Given the description of an element on the screen output the (x, y) to click on. 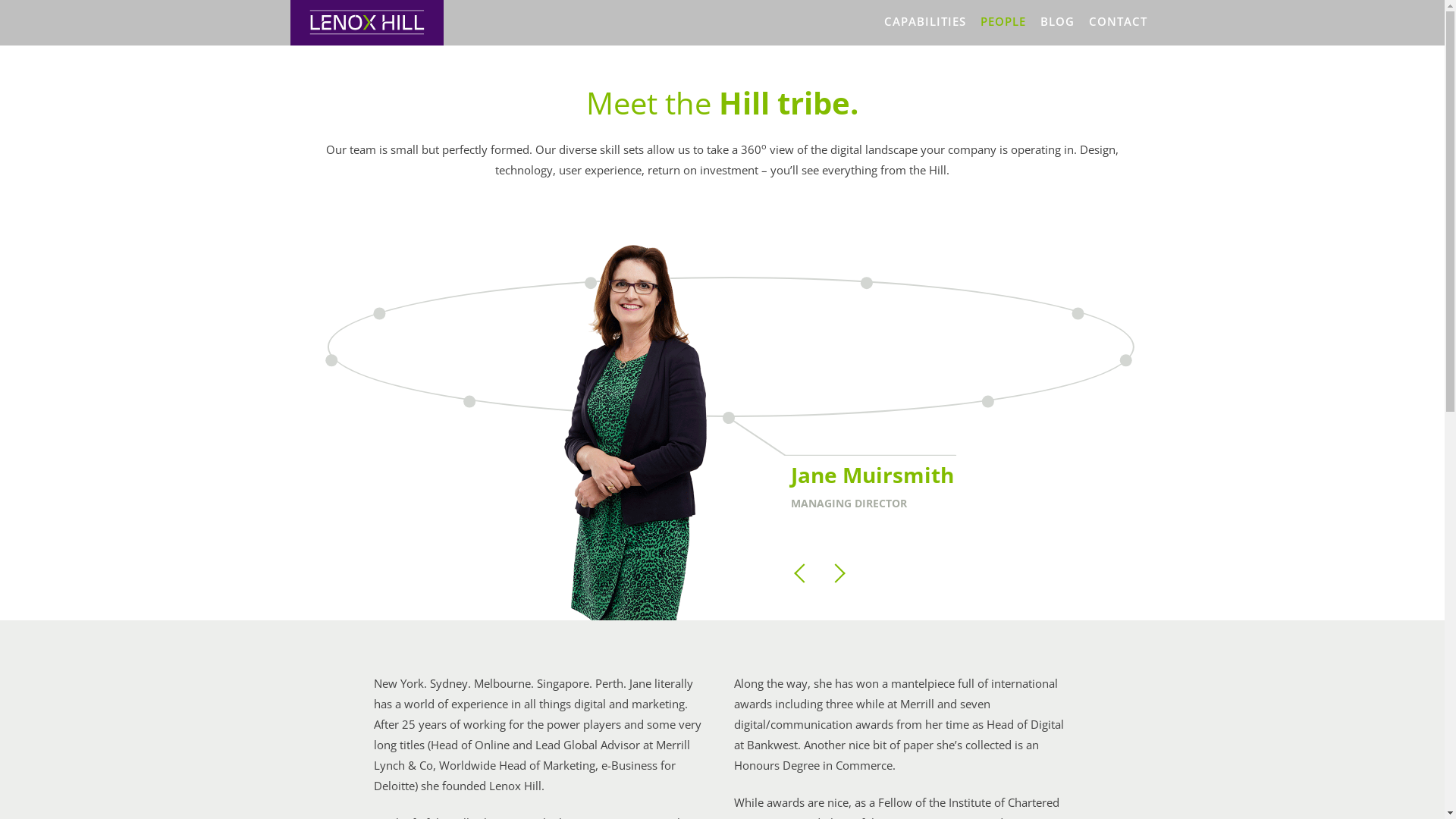
BLOG Element type: text (1057, 21)
CONTACT Element type: text (1117, 21)
PEOPLE Element type: text (1002, 21)
CAPABILITIES Element type: text (925, 21)
